Given the description of an element on the screen output the (x, y) to click on. 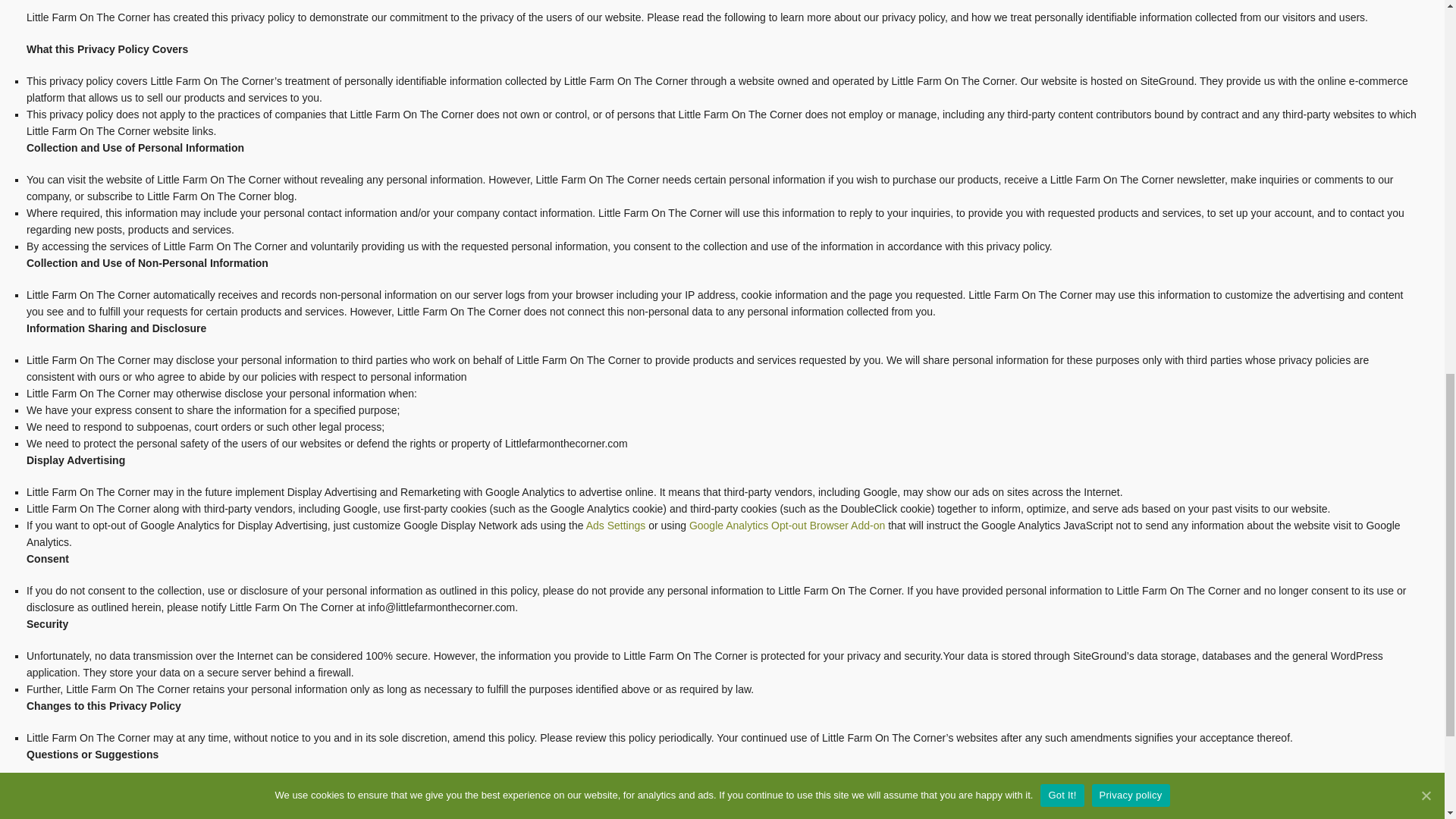
Google Analytics Opt-out Browser Add-on (786, 525)
Ads Settings (616, 525)
